Given the description of an element on the screen output the (x, y) to click on. 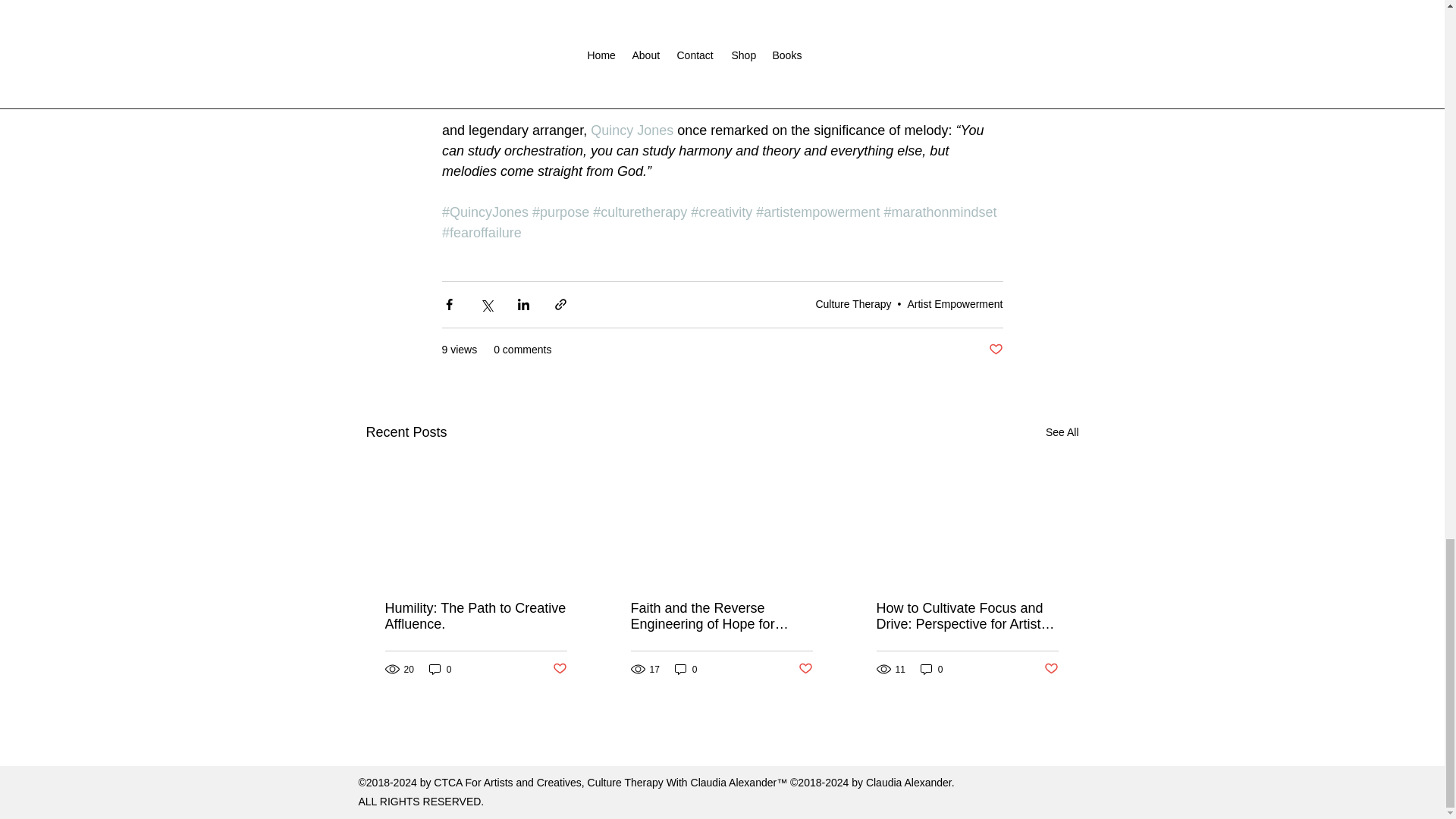
0 (440, 668)
Artist Empowerment (955, 304)
Post not marked as liked (558, 668)
See All (1061, 432)
Culture Therapy (853, 304)
Humility: The Path to Creative Affluence. (476, 616)
Post not marked as liked (995, 349)
Quincy Jones (631, 130)
